Given the description of an element on the screen output the (x, y) to click on. 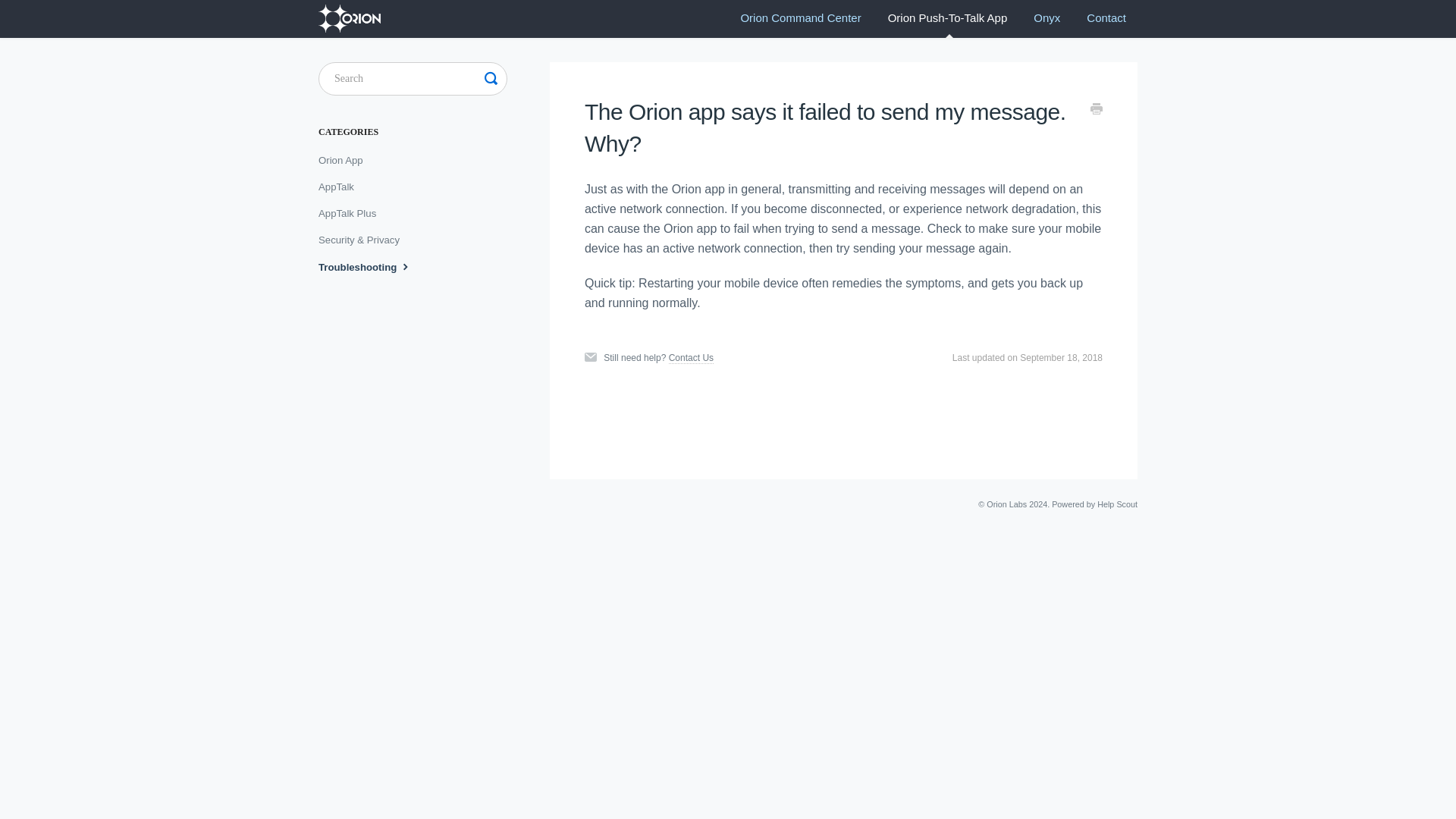
Contact (1106, 18)
Orion Command Center (800, 18)
Orion App (346, 160)
search-query (412, 78)
Troubleshooting (371, 267)
Contact Us (690, 357)
Onyx (1046, 18)
AppTalk Plus (352, 213)
Help Scout (1117, 503)
AppTalk (341, 187)
